Given the description of an element on the screen output the (x, y) to click on. 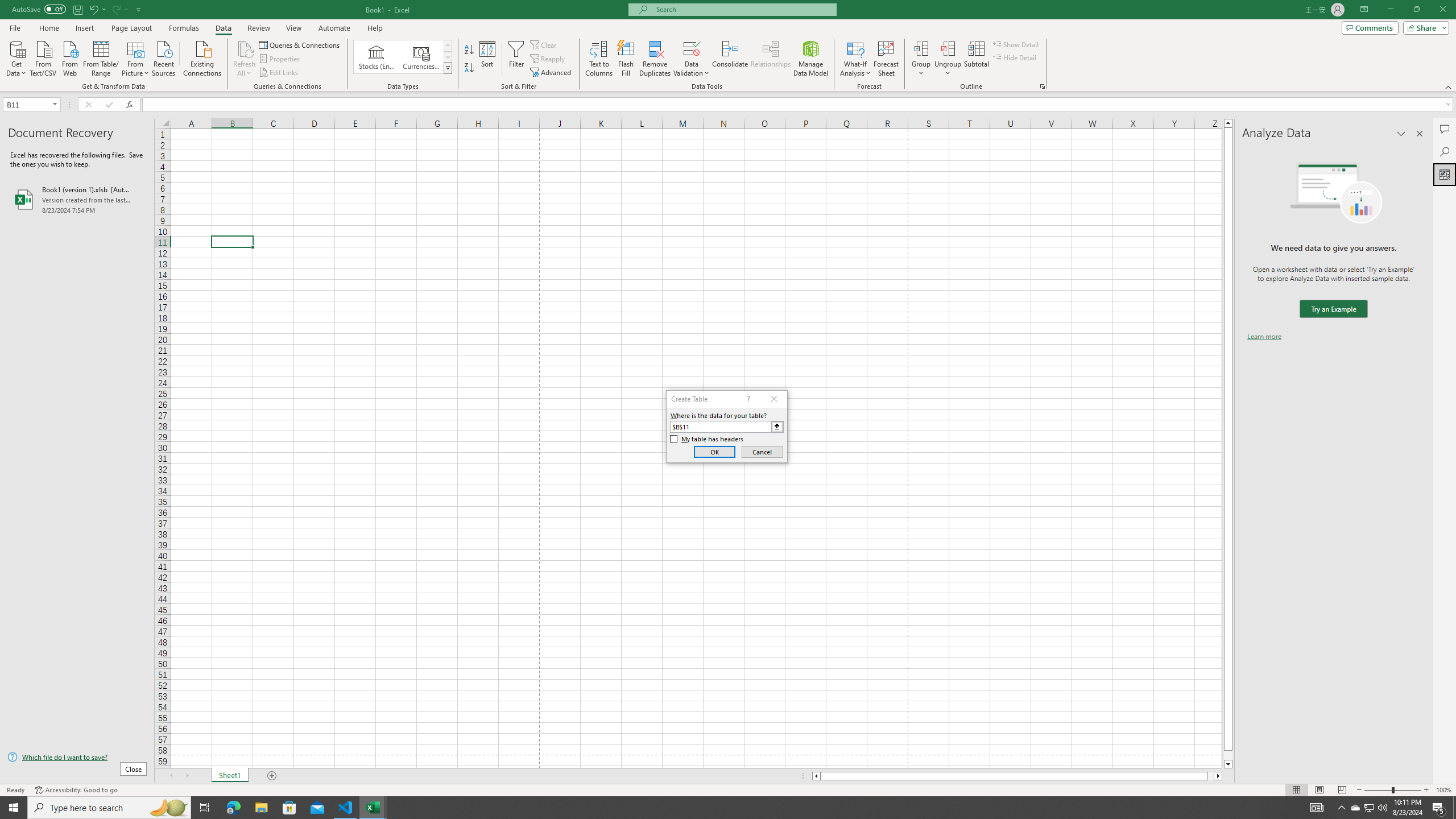
Search (1444, 151)
Close pane (1419, 133)
Currencies (English) (420, 56)
